Given the description of an element on the screen output the (x, y) to click on. 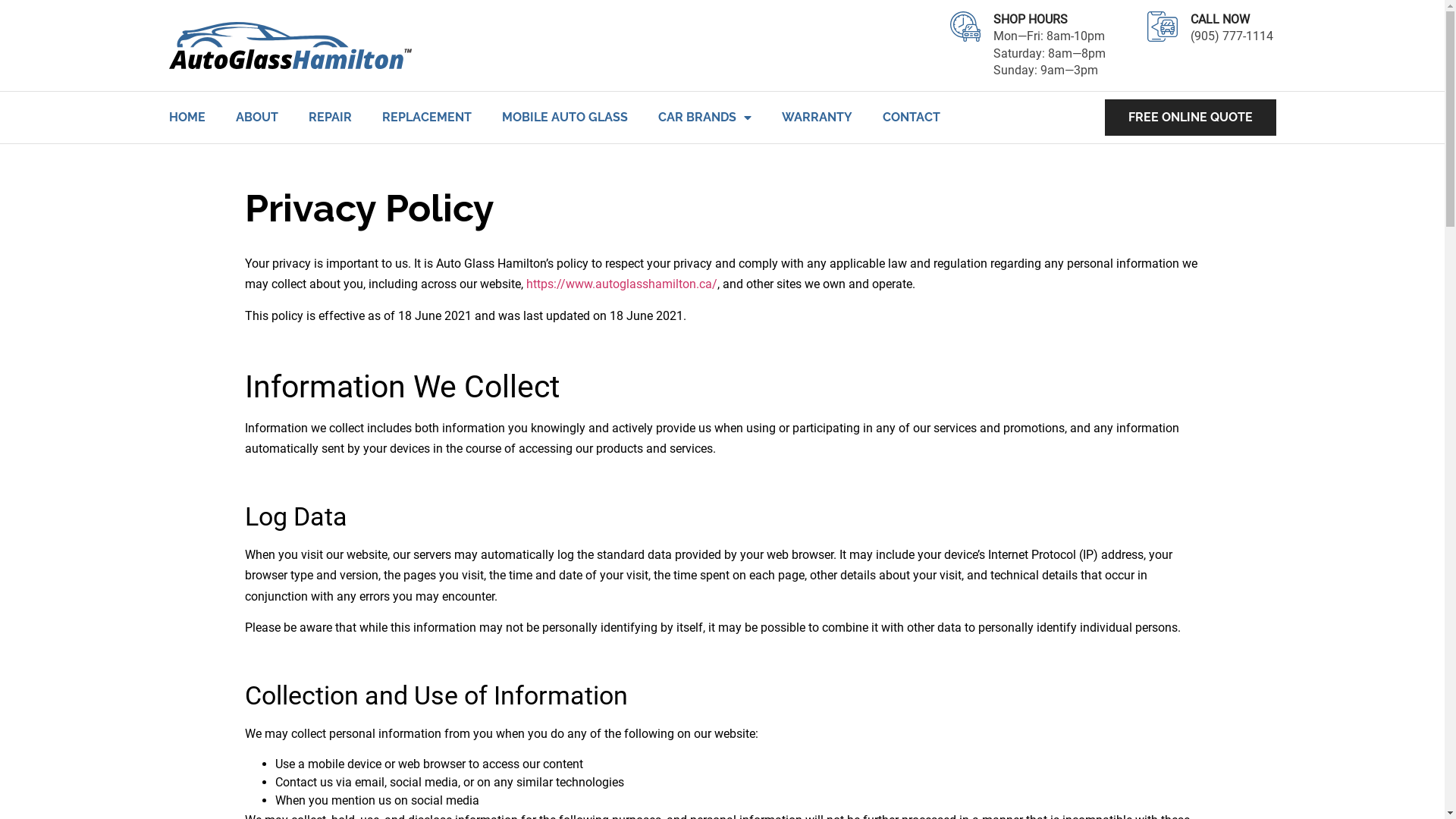
HOME Element type: text (186, 116)
REPAIR Element type: text (329, 116)
CAR BRANDS Element type: text (704, 116)
(905) 777-1114 Element type: text (1233, 44)
https://www.autoglasshamilton.ca/ Element type: text (621, 283)
REPLACEMENT Element type: text (426, 116)
CONTACT Element type: text (911, 116)
MOBILE AUTO GLASS Element type: text (564, 116)
WARRANTY Element type: text (816, 116)
FREE ONLINE QUOTE Element type: text (1189, 117)
ABOUT Element type: text (256, 116)
